Given the description of an element on the screen output the (x, y) to click on. 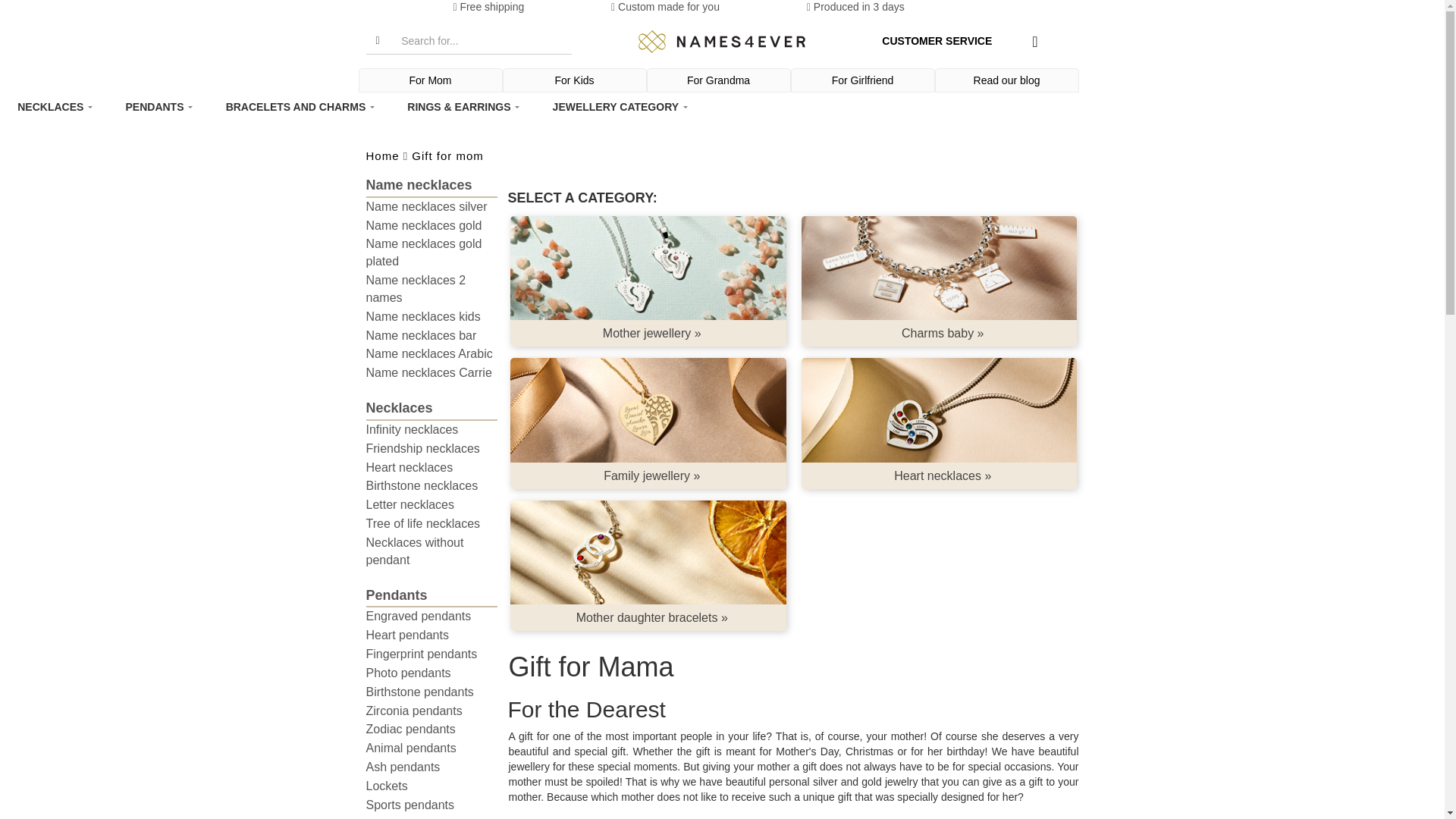
Read our blog (1007, 79)
For Girlfriend (863, 79)
Charms baby (938, 268)
CUSTOMER SERVICE (936, 40)
For Mom (430, 79)
Heart necklaces (938, 409)
Family jewellery (648, 409)
For Kids (574, 79)
Mother jewellery (648, 268)
Home (721, 41)
Mother daughter bracelets (648, 552)
For Grandma (718, 79)
Klantenservice (936, 40)
